Given the description of an element on the screen output the (x, y) to click on. 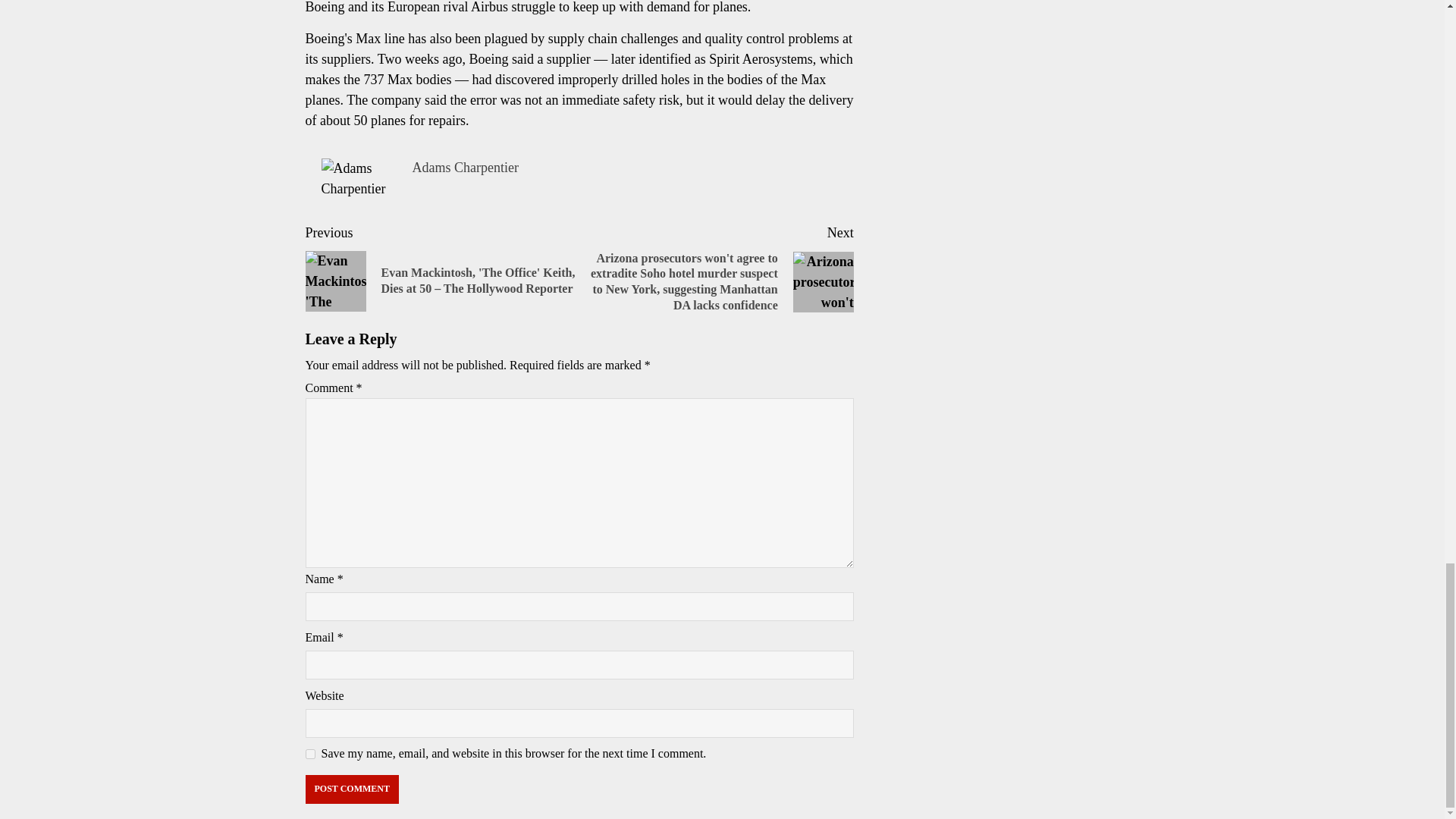
Post Comment (350, 788)
Adams Charpentier (465, 167)
Post Comment (350, 788)
yes (309, 754)
